Given the description of an element on the screen output the (x, y) to click on. 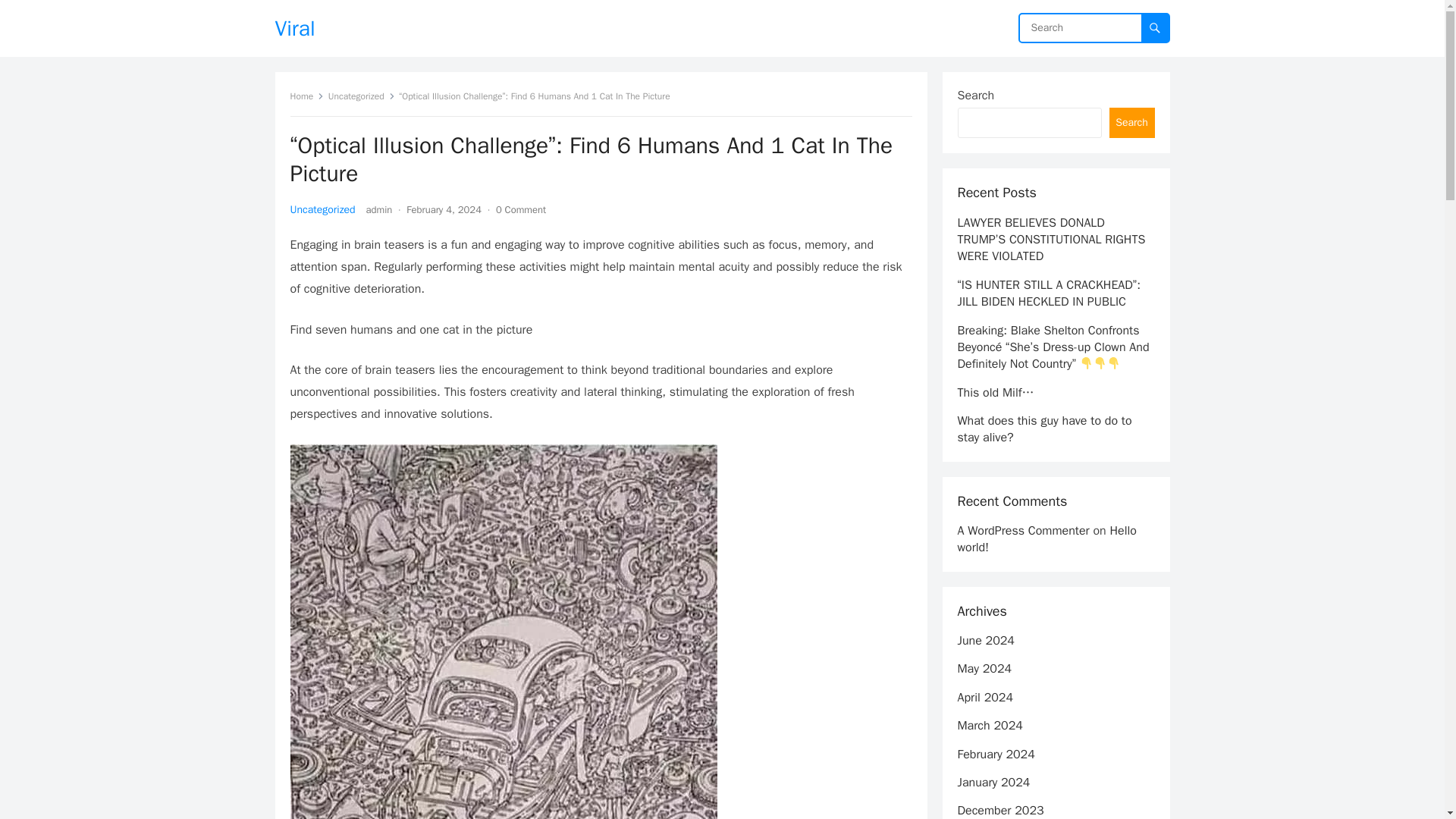
0 Comment (521, 209)
Search (1131, 122)
admin (379, 209)
Uncategorized (361, 96)
Uncategorized (322, 209)
Home (306, 96)
Posts by admin (379, 209)
